Given the description of an element on the screen output the (x, y) to click on. 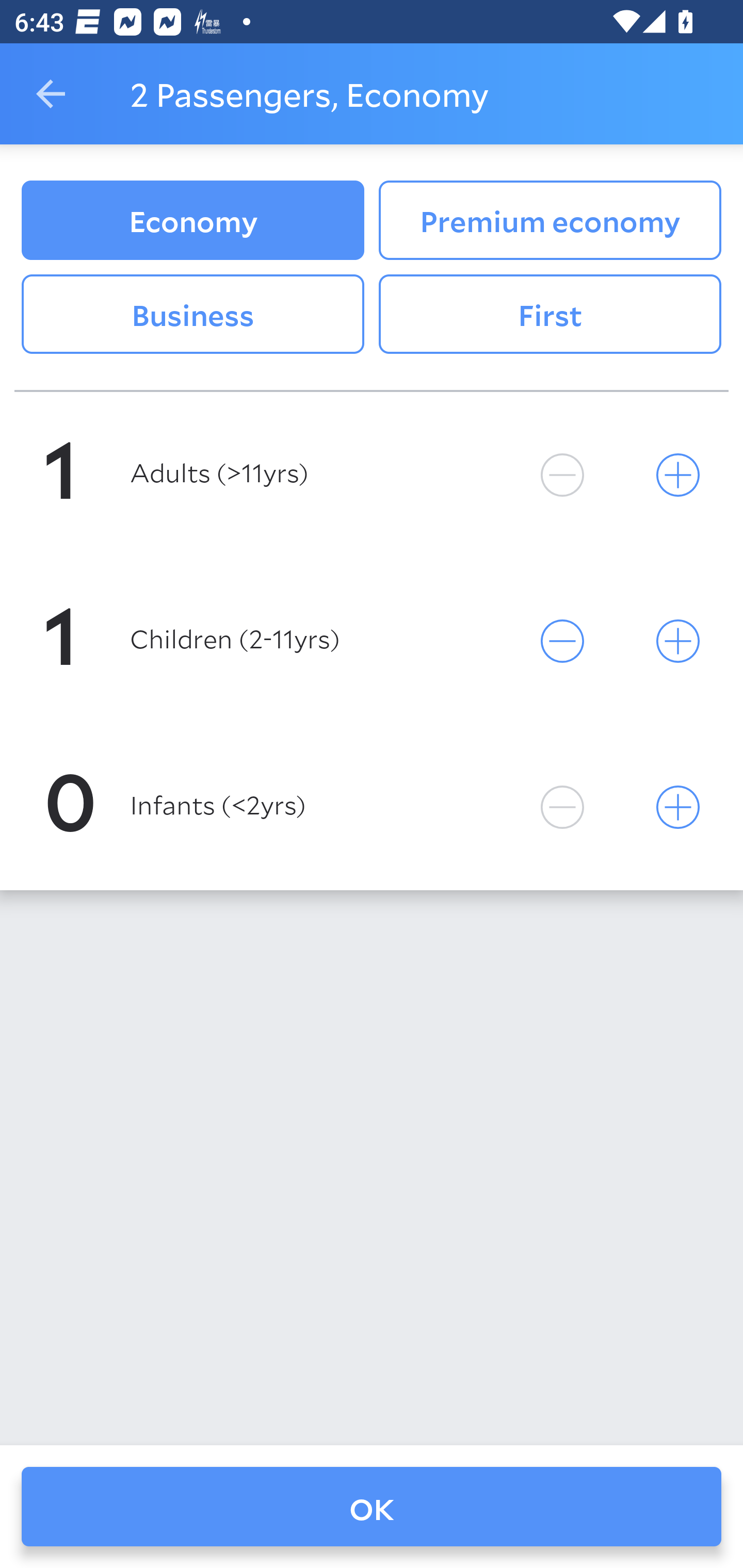
Navigate up (50, 93)
Economy (192, 220)
Premium economy (549, 220)
Business (192, 314)
First (549, 314)
OK (371, 1506)
